Given the description of an element on the screen output the (x, y) to click on. 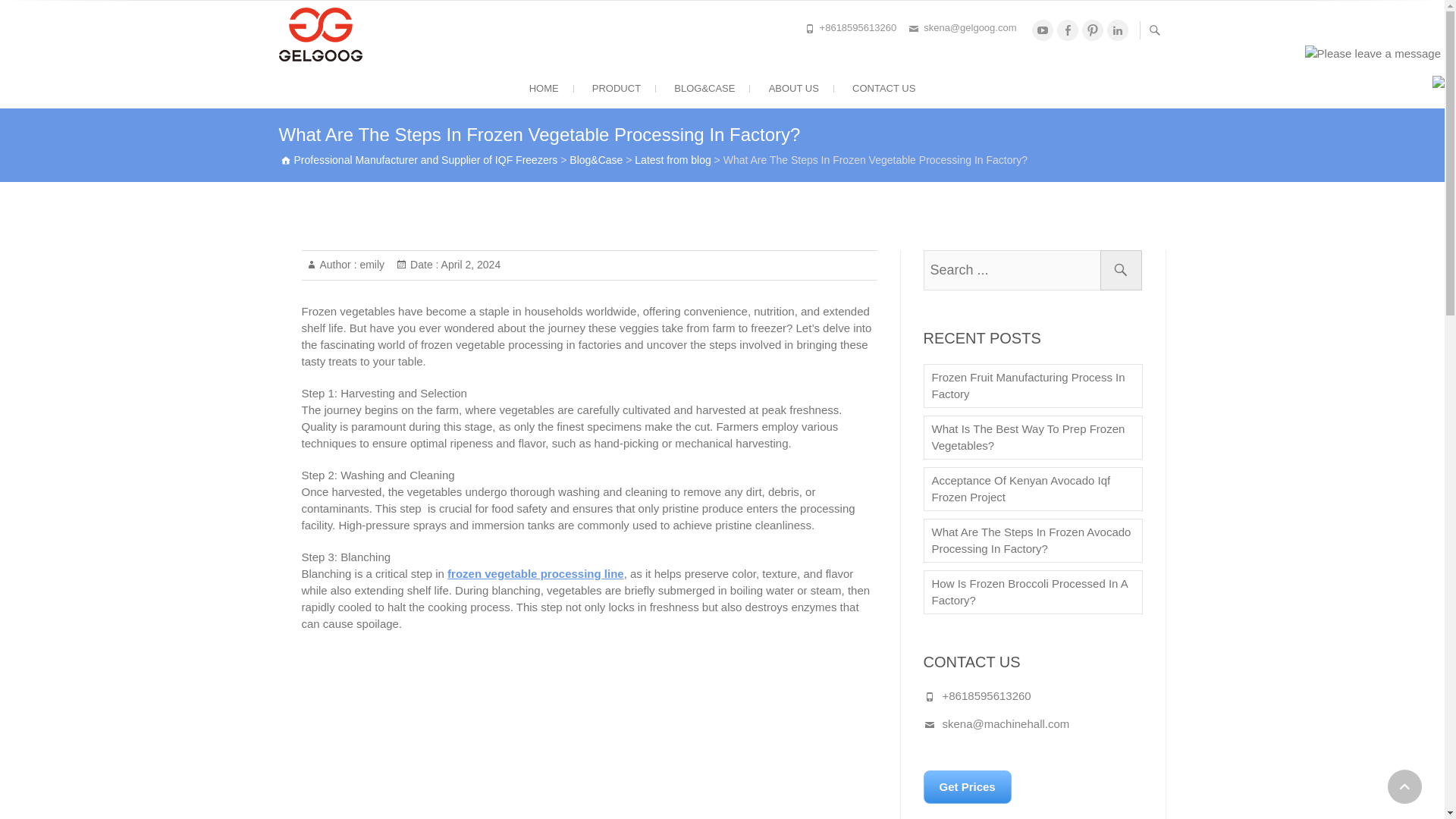
Facebook (1067, 29)
Go to the Latest from blog category archives. (672, 159)
Frozen Broccoli Processing Line (539, 733)
Please leave a message (1372, 53)
Pinterest (1091, 29)
Professional Manufacturer and Supplier of IQF Freezers (514, 27)
emily (370, 264)
PRODUCT (616, 88)
Go to Top (1404, 786)
7:13 am (469, 264)
Linkedin (1117, 29)
Professional Manufacturer and Supplier of IQF Freezers (514, 27)
Youtube (1041, 29)
